Given the description of an element on the screen output the (x, y) to click on. 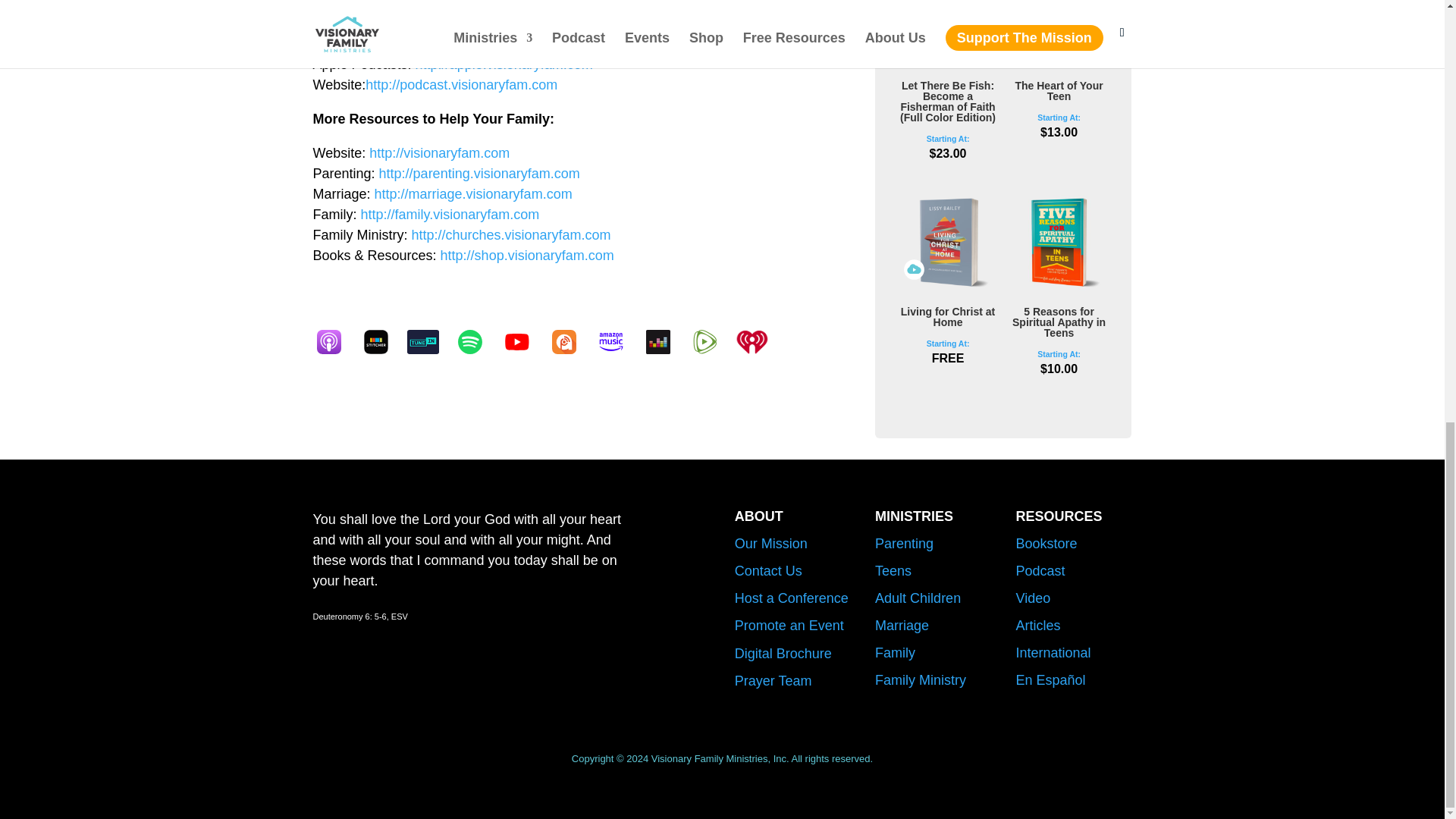
YouTube (523, 341)
Rumble (711, 341)
Deezer (665, 341)
Stitcher (382, 341)
Our Ministry (771, 543)
Podcast-Addict (570, 341)
TuneIn (429, 341)
Contact Us (768, 570)
iHeartRadio (759, 341)
Apple-Podcasts (336, 341)
Spotify (476, 341)
Amazon-Music (618, 341)
Read: Deuteronomy 6: 5-6 (360, 615)
